Given the description of an element on the screen output the (x, y) to click on. 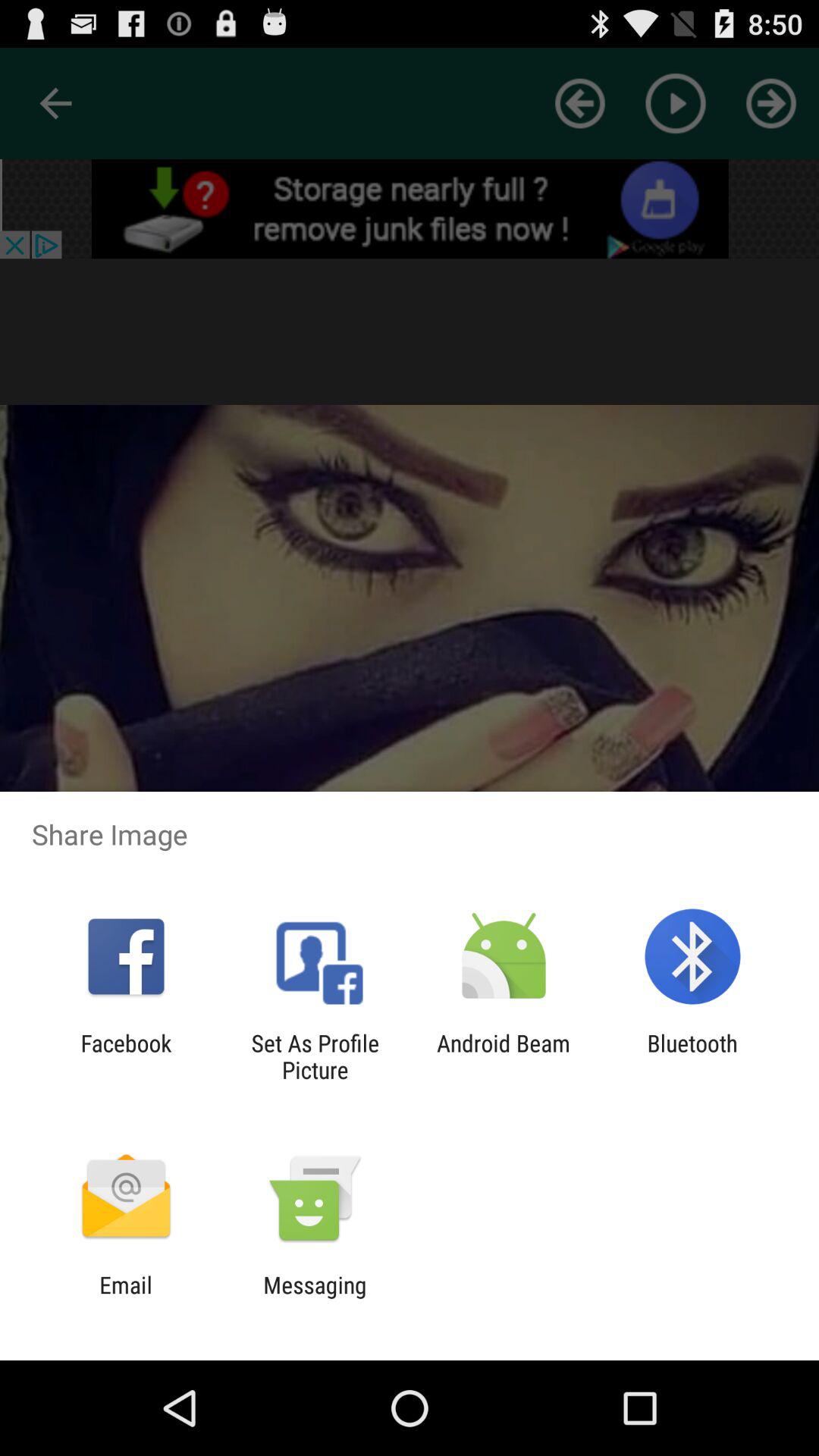
select icon next to set as profile icon (503, 1056)
